Given the description of an element on the screen output the (x, y) to click on. 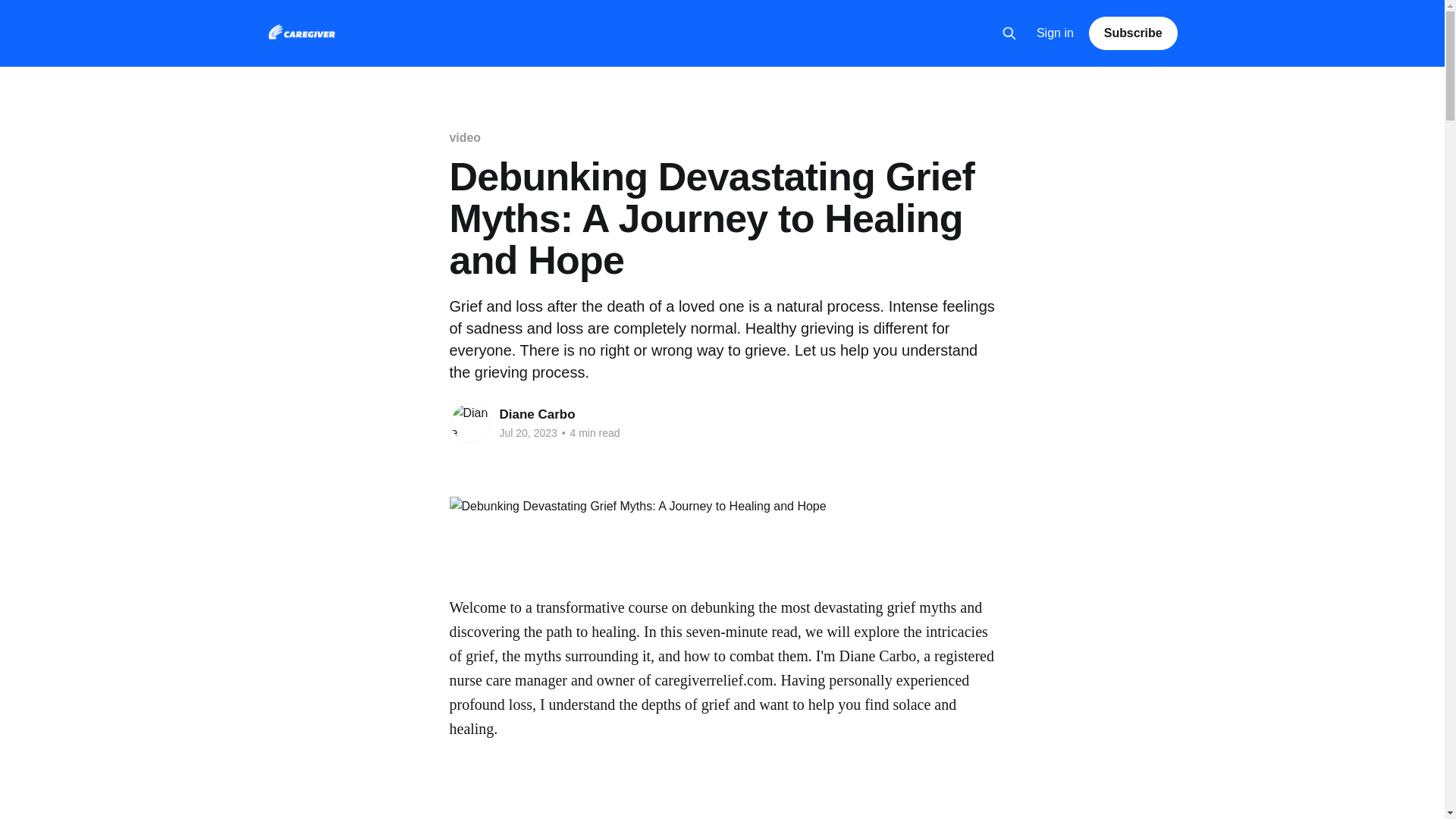
video (464, 137)
Diane Carbo (537, 414)
Sign in (1055, 33)
Subscribe (1133, 32)
